Given the description of an element on the screen output the (x, y) to click on. 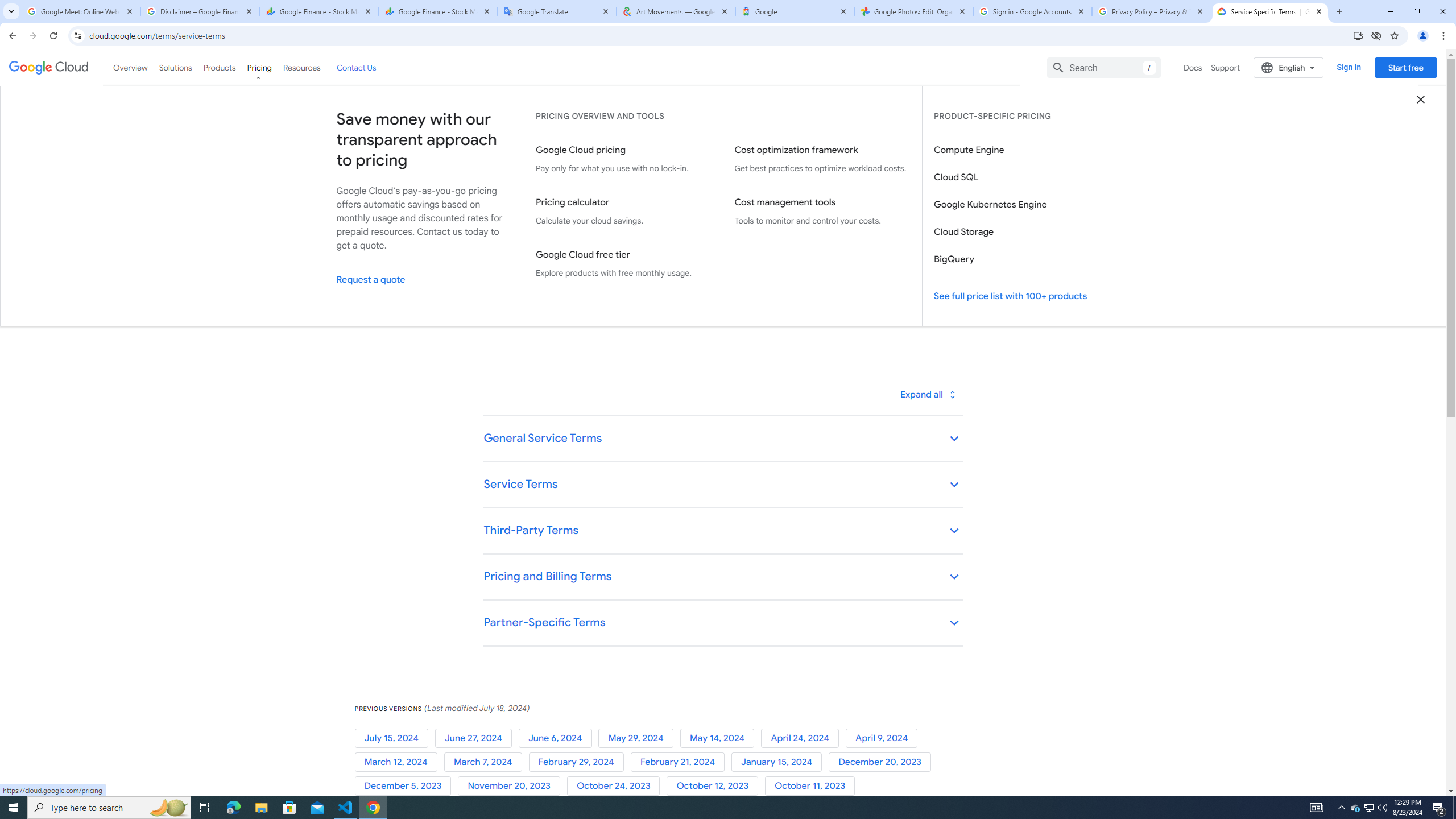
February 29, 2024 (579, 761)
May 29, 2024 (638, 737)
July 15, 2024 (394, 737)
